Given the description of an element on the screen output the (x, y) to click on. 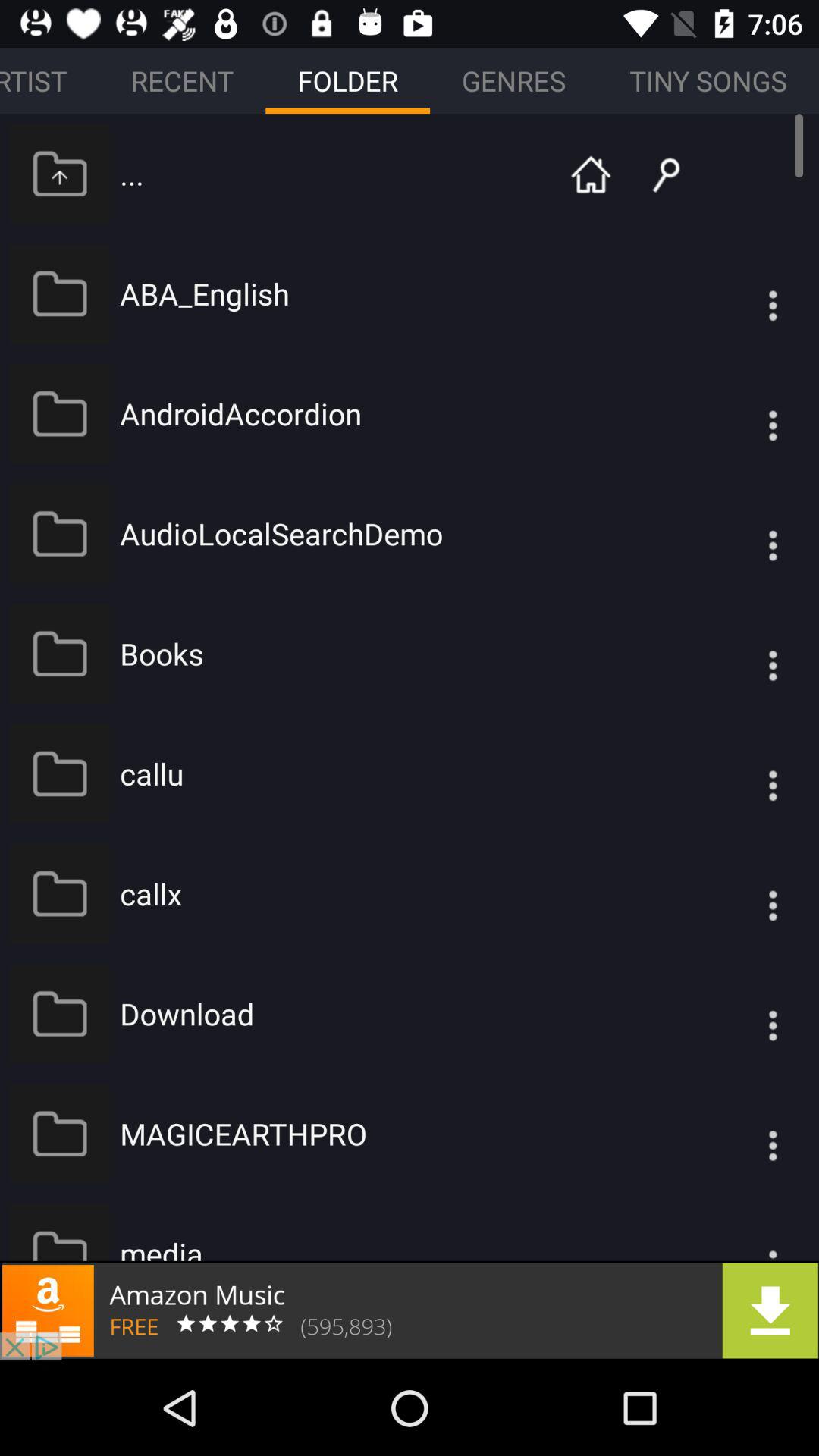
home (590, 173)
